Given the description of an element on the screen output the (x, y) to click on. 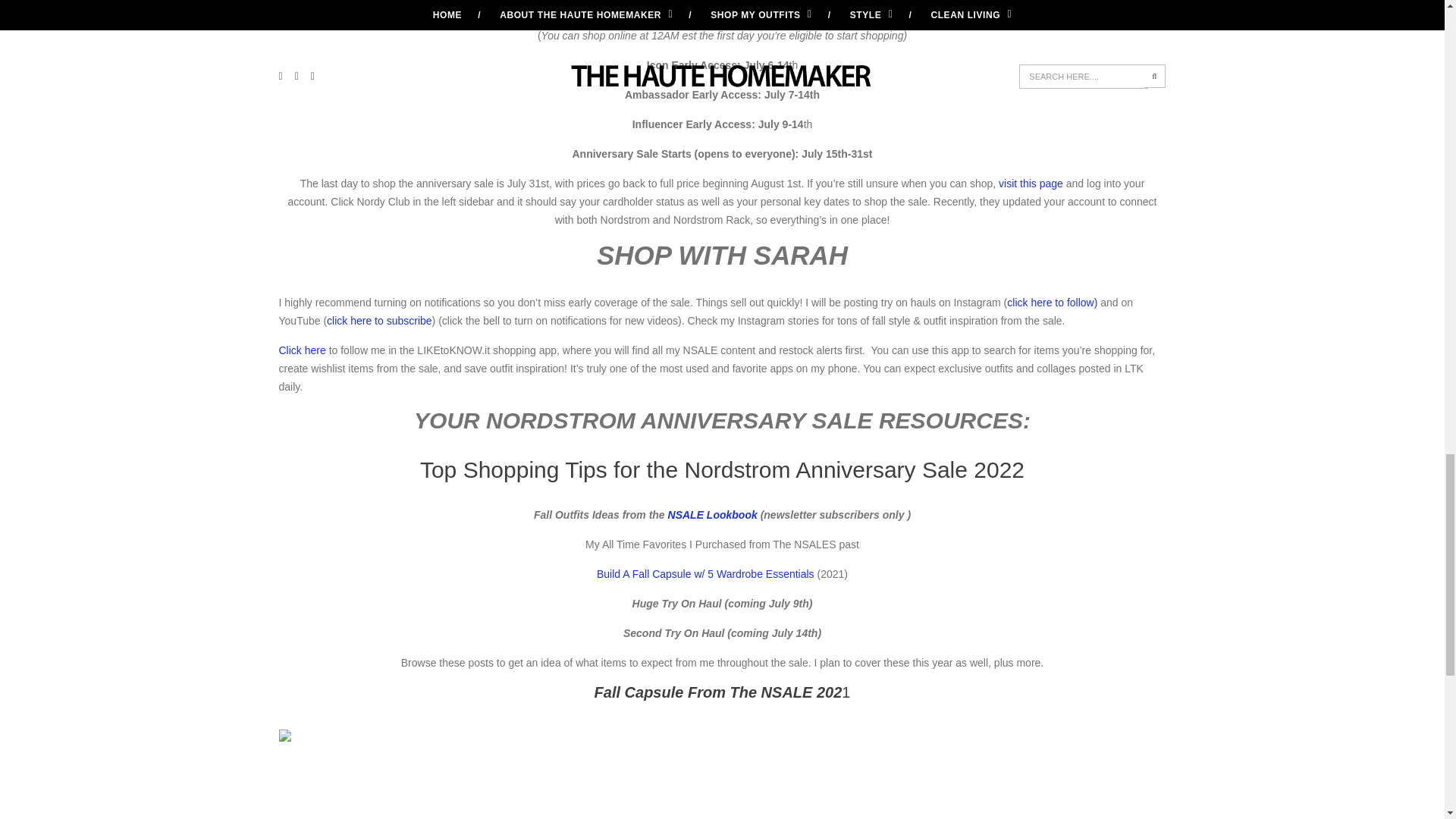
visit this page (1030, 183)
Click here (302, 349)
NSALE Lookbook (712, 514)
click here to subscribe (379, 320)
Top Shopping Tips for the Nordstrom Anniversary Sale 2022 (722, 469)
